Given the description of an element on the screen output the (x, y) to click on. 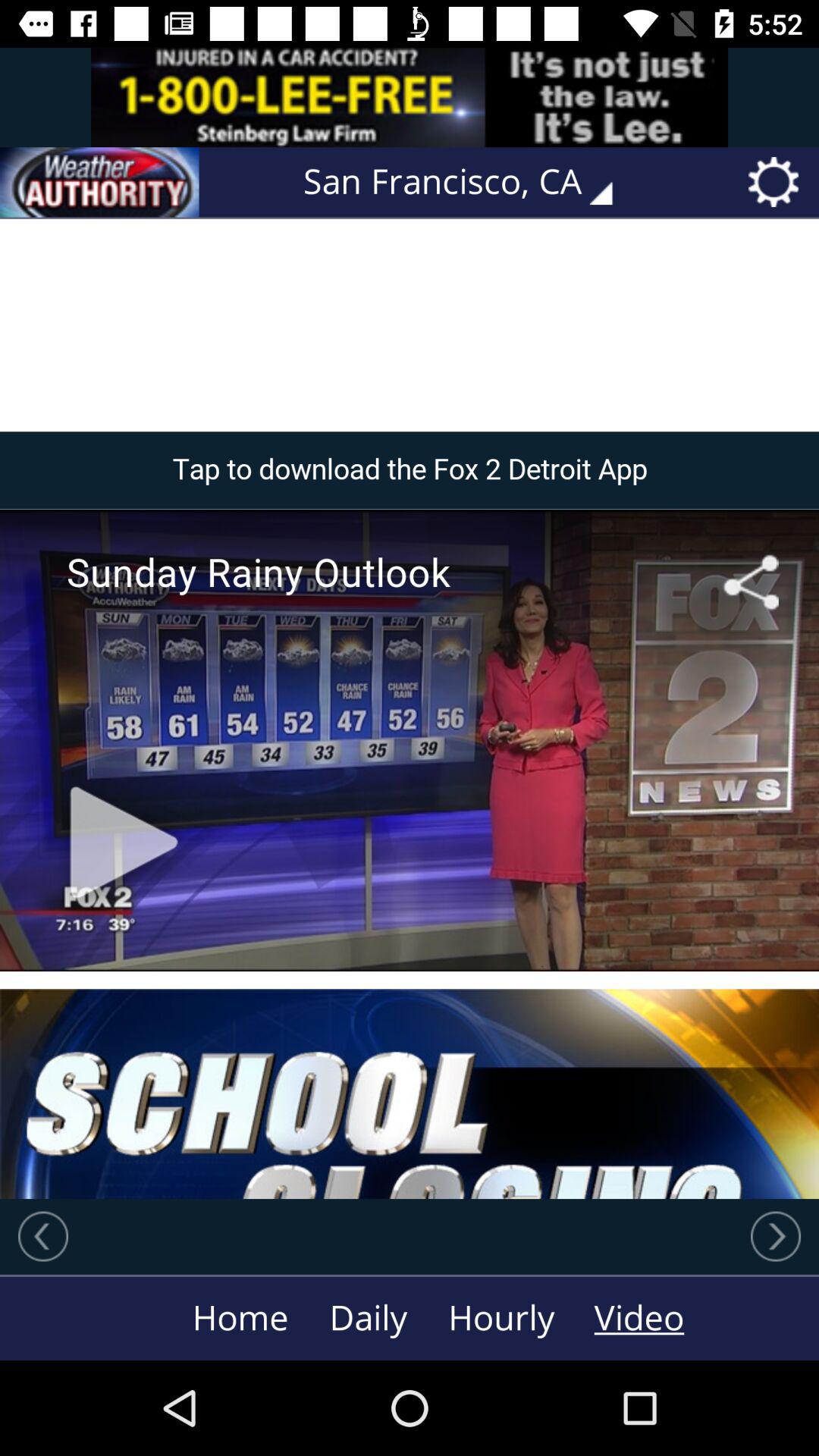
weather button (99, 182)
